Given the description of an element on the screen output the (x, y) to click on. 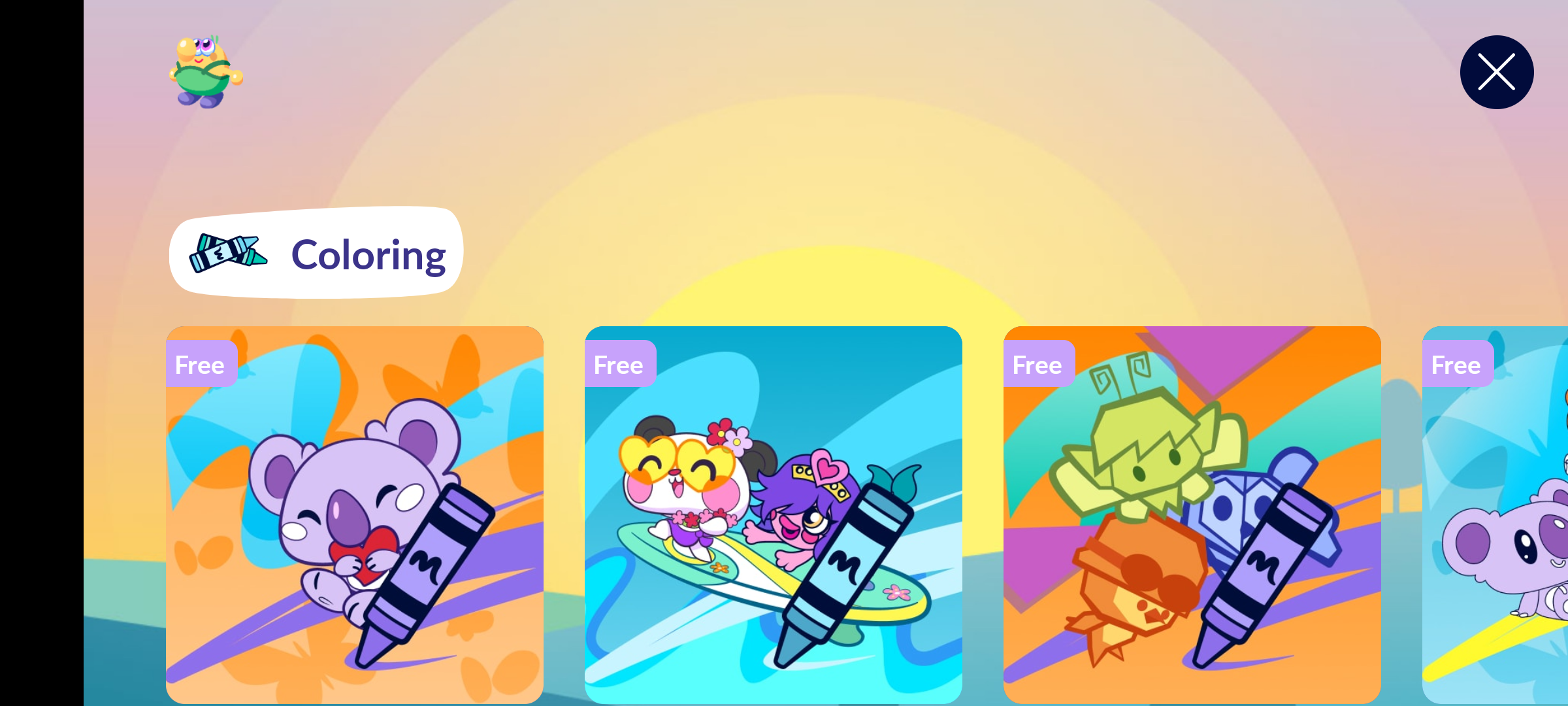
Profile icon (205, 71)
Featured Content Free (355, 514)
Featured Content Free (773, 514)
Featured Content Free (1192, 514)
